Given the description of an element on the screen output the (x, y) to click on. 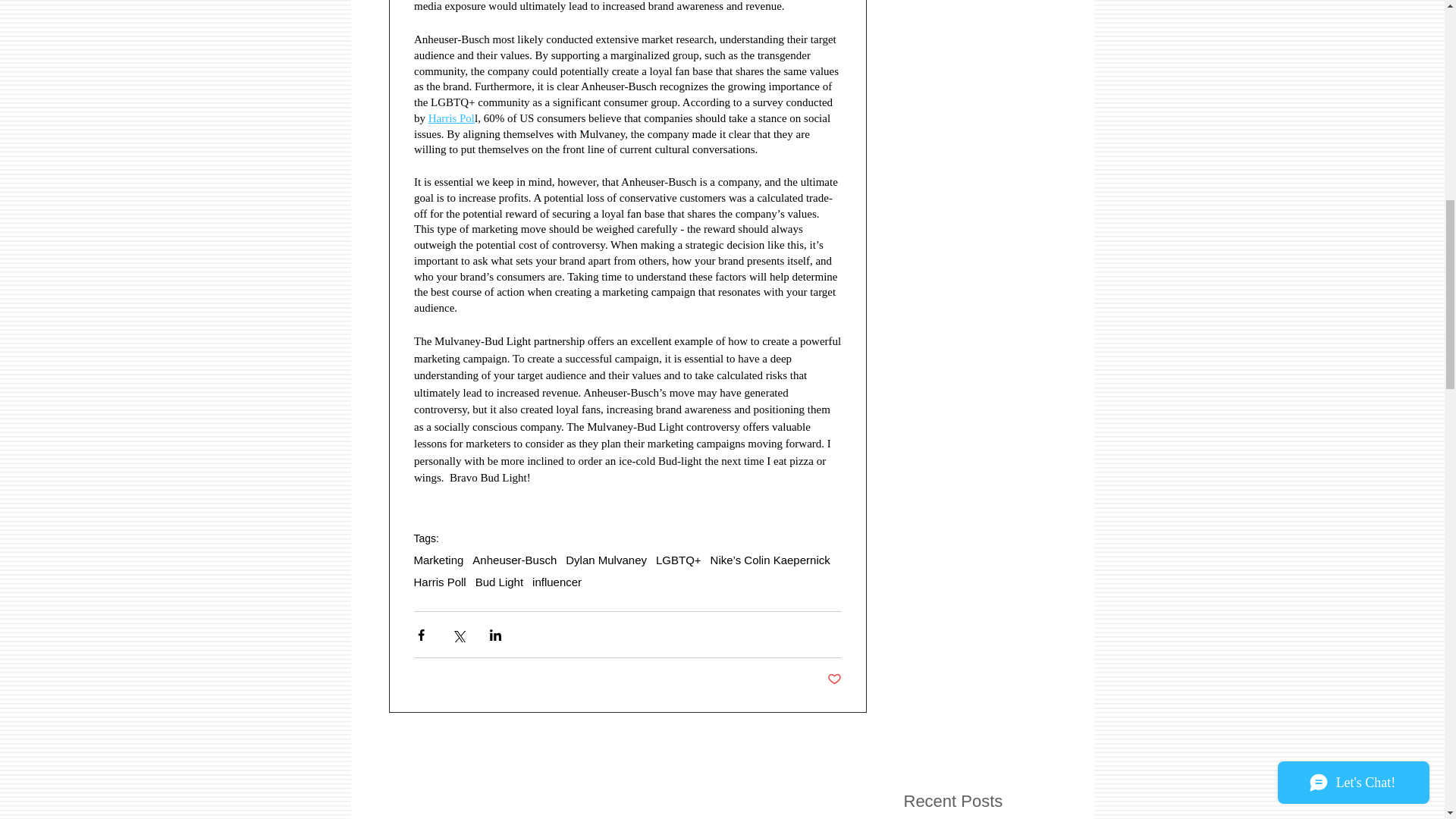
Marketing (438, 559)
Harris Pol (451, 118)
Bud Light (499, 581)
Dylan Mulvaney (606, 559)
influencer (556, 581)
Post not marked as liked (834, 679)
Harris Poll (439, 581)
Anheuser-Busch (513, 559)
